Given the description of an element on the screen output the (x, y) to click on. 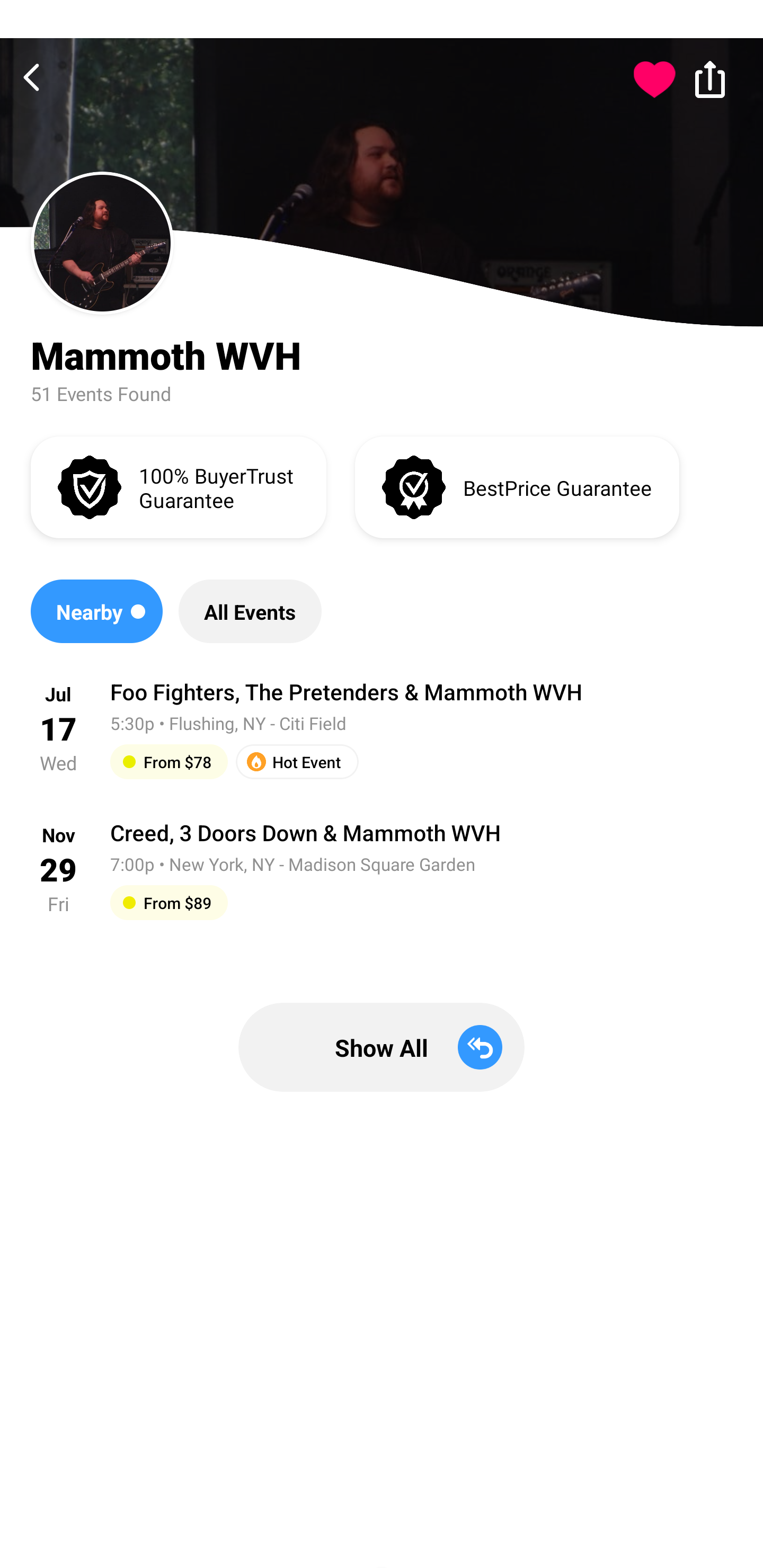
100% BuyerTrust Guarantee (178, 486)
BestPrice Guarantee (516, 486)
Nearby (96, 611)
All Events (249, 611)
Show All (381, 1047)
